Given the description of an element on the screen output the (x, y) to click on. 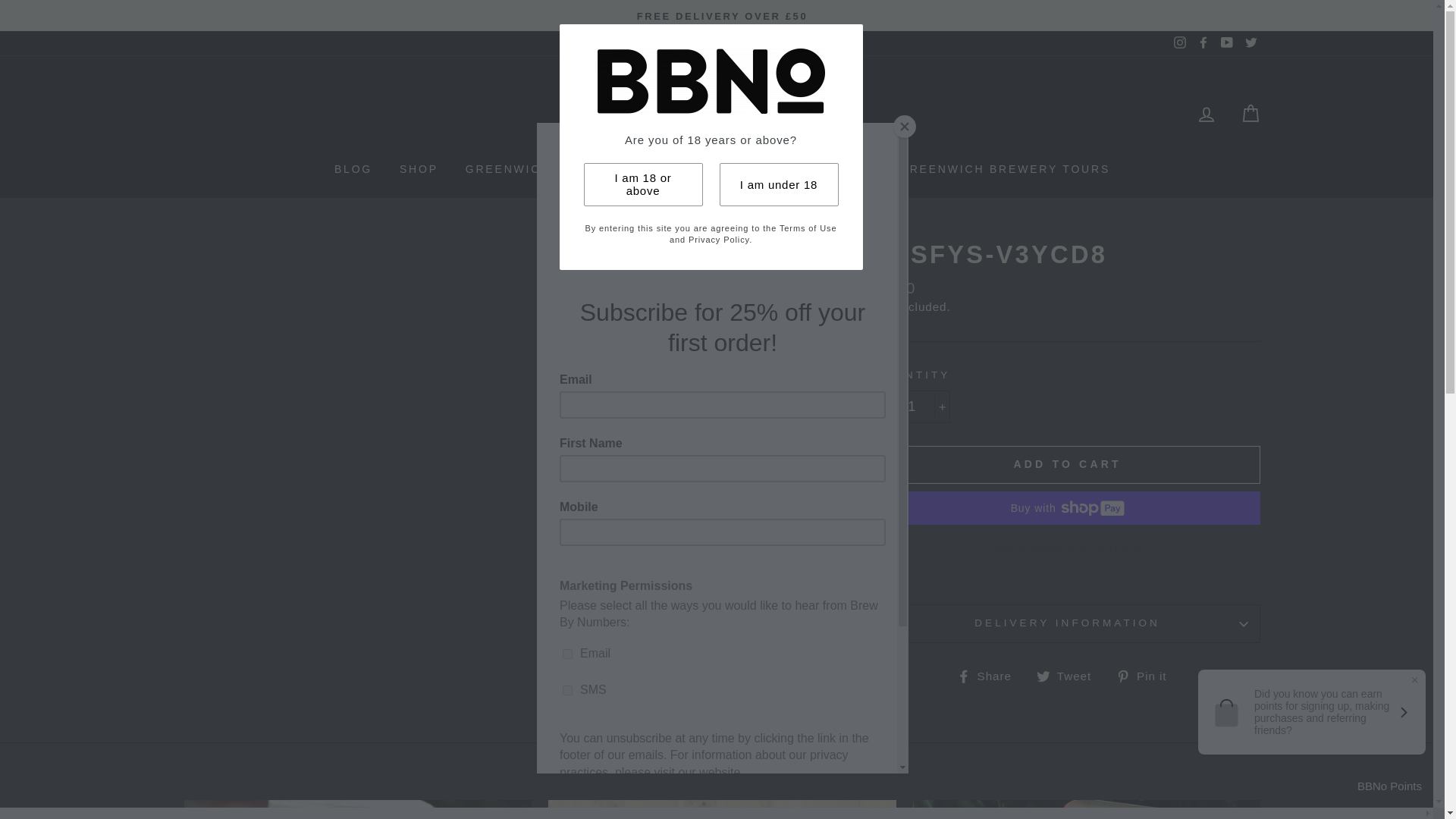
1 (912, 406)
I am 18 or above (643, 184)
Brew By Numbers on YouTube (1226, 42)
Tweet on Twitter (1069, 674)
BLOG (353, 170)
YouTube (1226, 42)
I am under 18 (778, 184)
Instagram (1179, 42)
Facebook (1202, 42)
Pin on Pinterest (1146, 674)
I am 18 or above (643, 184)
CART (1249, 113)
SHOP (418, 170)
Brew By Numbers on Twitter (1250, 42)
